Given the description of an element on the screen output the (x, y) to click on. 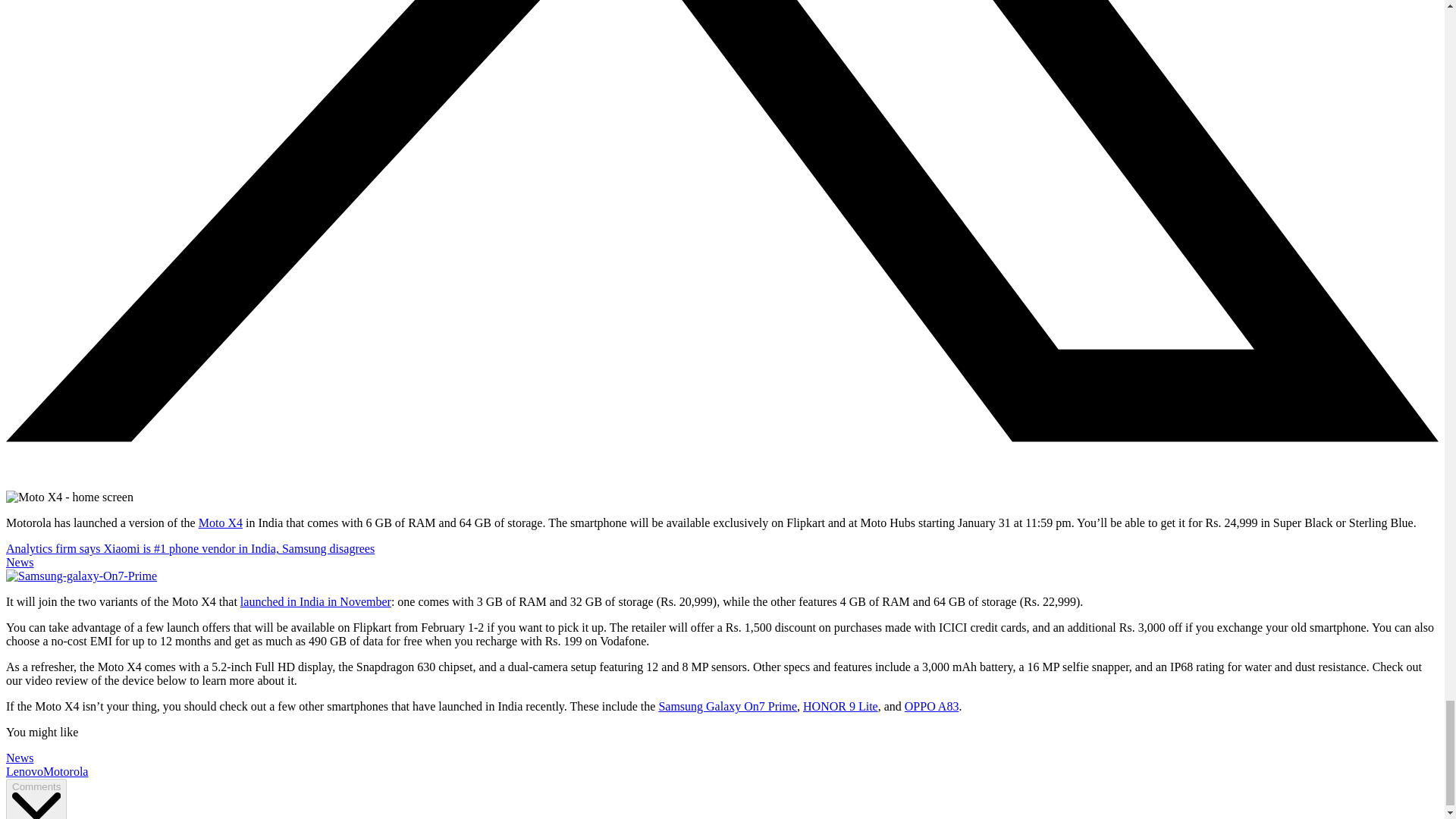
OPPO A83 (931, 706)
launched in India in November (315, 601)
Samsung Galaxy On7 Prime (727, 706)
Moto X4 - home screen (69, 497)
Samsung-galaxy-On7-Prime (81, 576)
HONOR 9 Lite (840, 706)
Moto X4 (220, 522)
Motorola (65, 771)
News (19, 757)
Lenovo (24, 771)
